Given the description of an element on the screen output the (x, y) to click on. 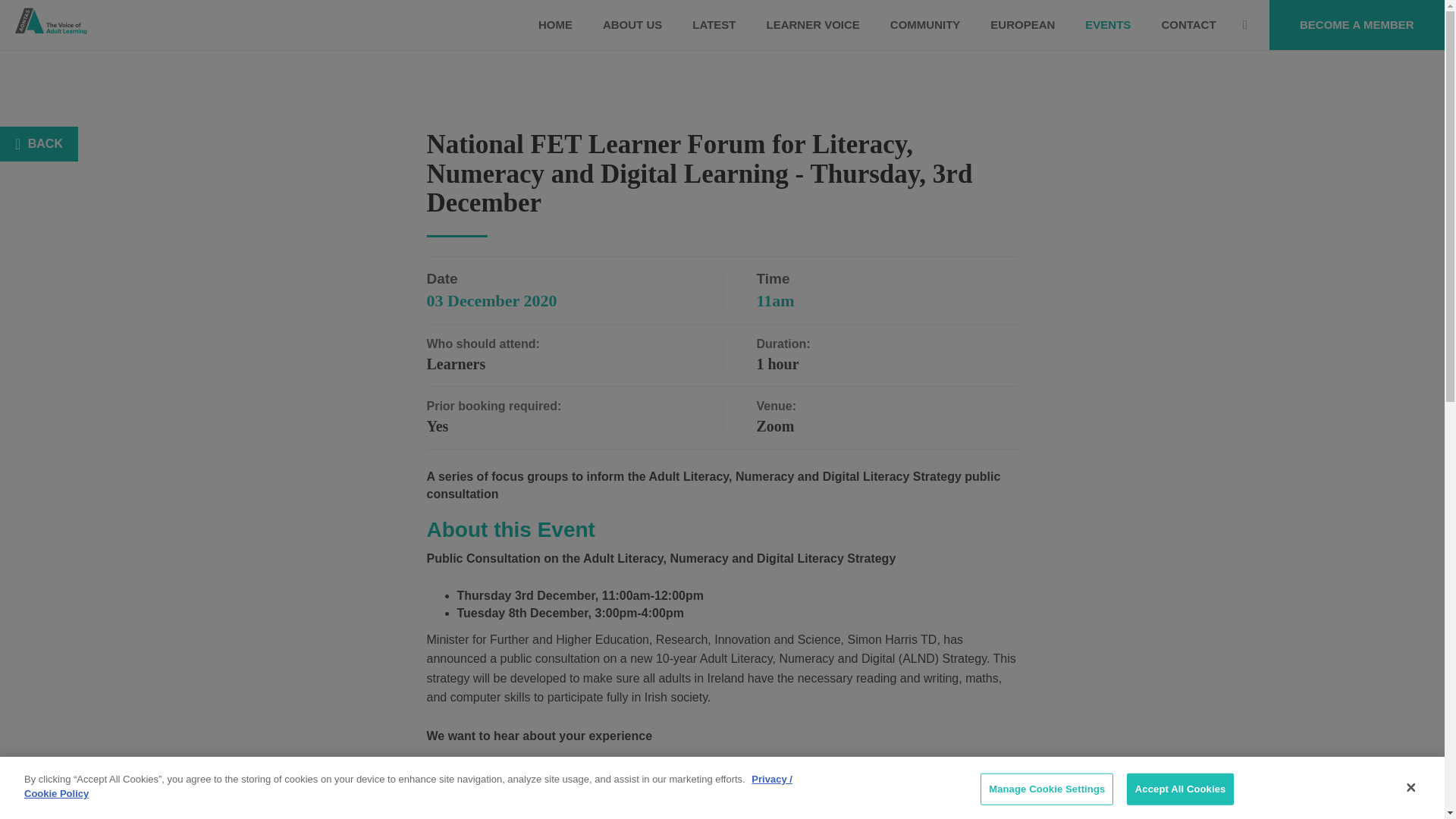
LEARNER VOICE (813, 24)
EVENTS (1107, 24)
EUROPEAN (1022, 24)
LATEST (714, 24)
COMMUNITY (925, 24)
HOME (555, 24)
ABOUT US (632, 24)
CONTACT (1187, 24)
